Given the description of an element on the screen output the (x, y) to click on. 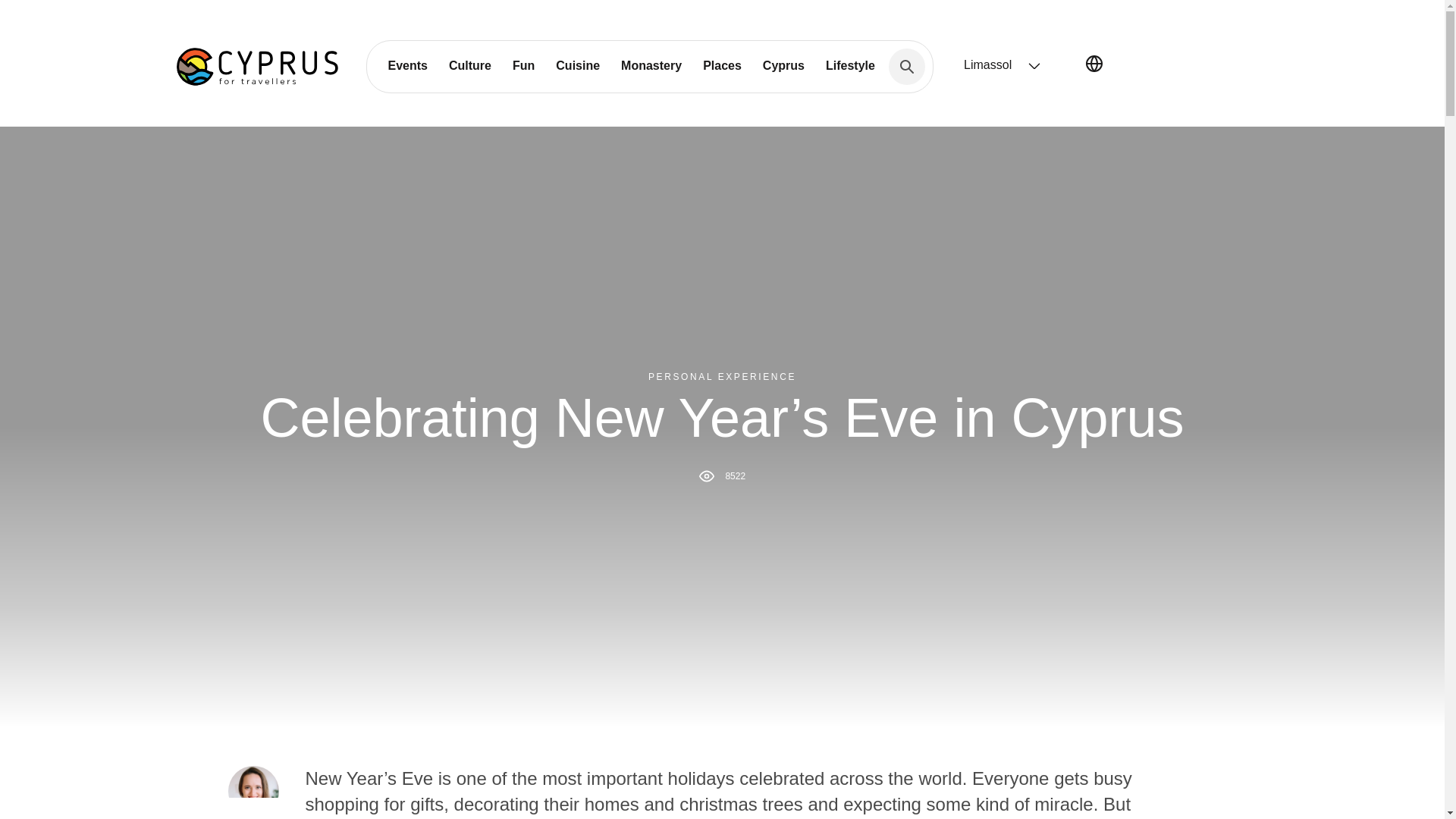
Cuisine (577, 65)
Cyprus (783, 65)
Fun (523, 65)
PERSONAL EXPERIENCE (721, 376)
Monastery (651, 65)
Places (722, 65)
Events (407, 65)
Elena Rabkina (252, 790)
Culture (470, 65)
Lifestyle (850, 65)
